Given the description of an element on the screen output the (x, y) to click on. 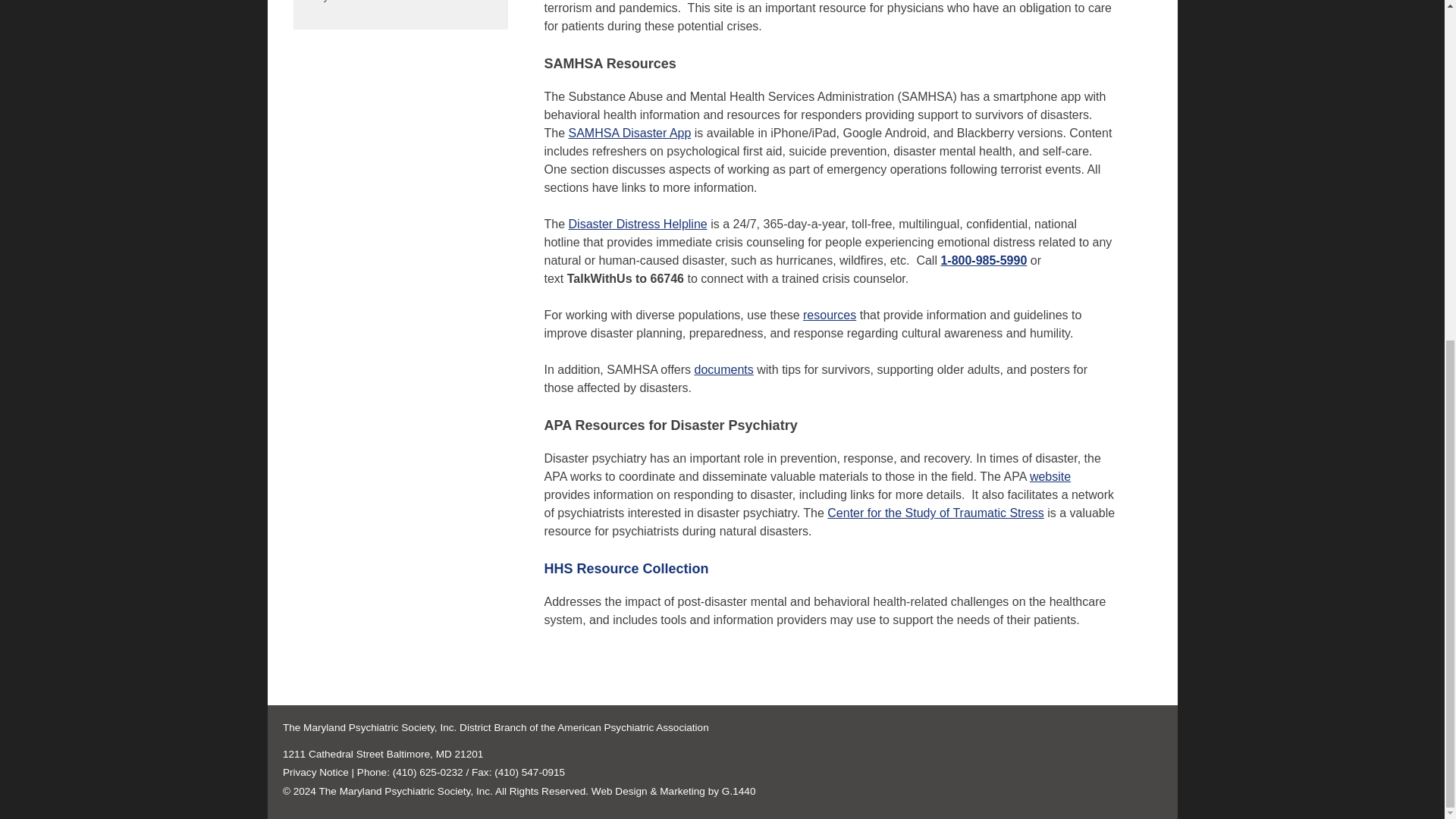
HHS Resource Collection (626, 568)
SAMHSA Disaster App (630, 132)
1-800-985-5990 (983, 259)
Privacy Notice (315, 772)
Marketing (681, 790)
Center for the Study of Traumatic Stress (935, 512)
G.1440 (738, 790)
documents (724, 369)
Early Career Resources (399, 7)
resources (829, 314)
Web Design (619, 790)
Disaster Distress Helpline (638, 223)
website (1049, 476)
